Given the description of an element on the screen output the (x, y) to click on. 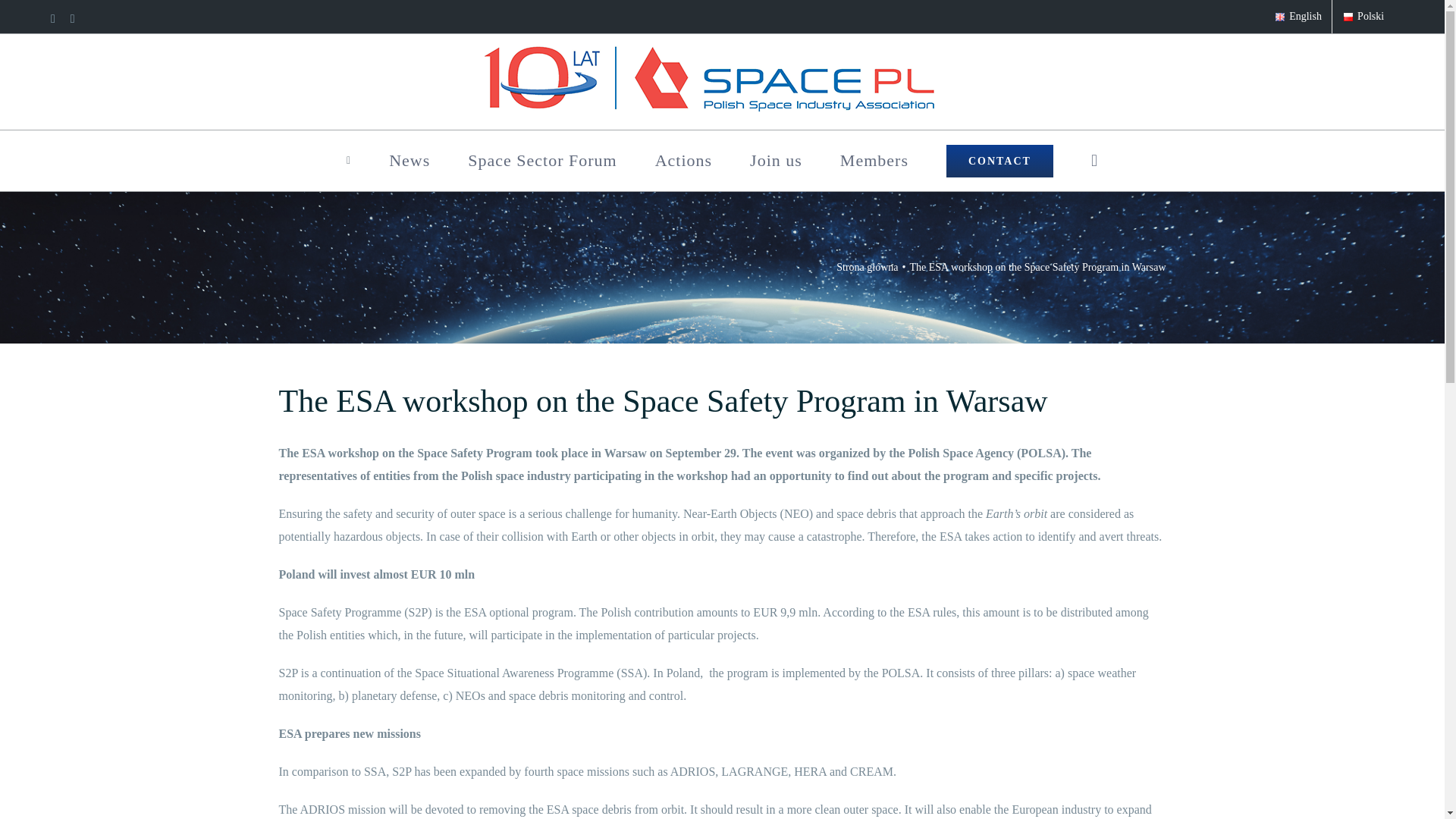
Space Sector Forum (541, 160)
CONTACT (999, 160)
Polski (1362, 16)
Actions (683, 160)
English (1297, 16)
Members (874, 160)
